Given the description of an element on the screen output the (x, y) to click on. 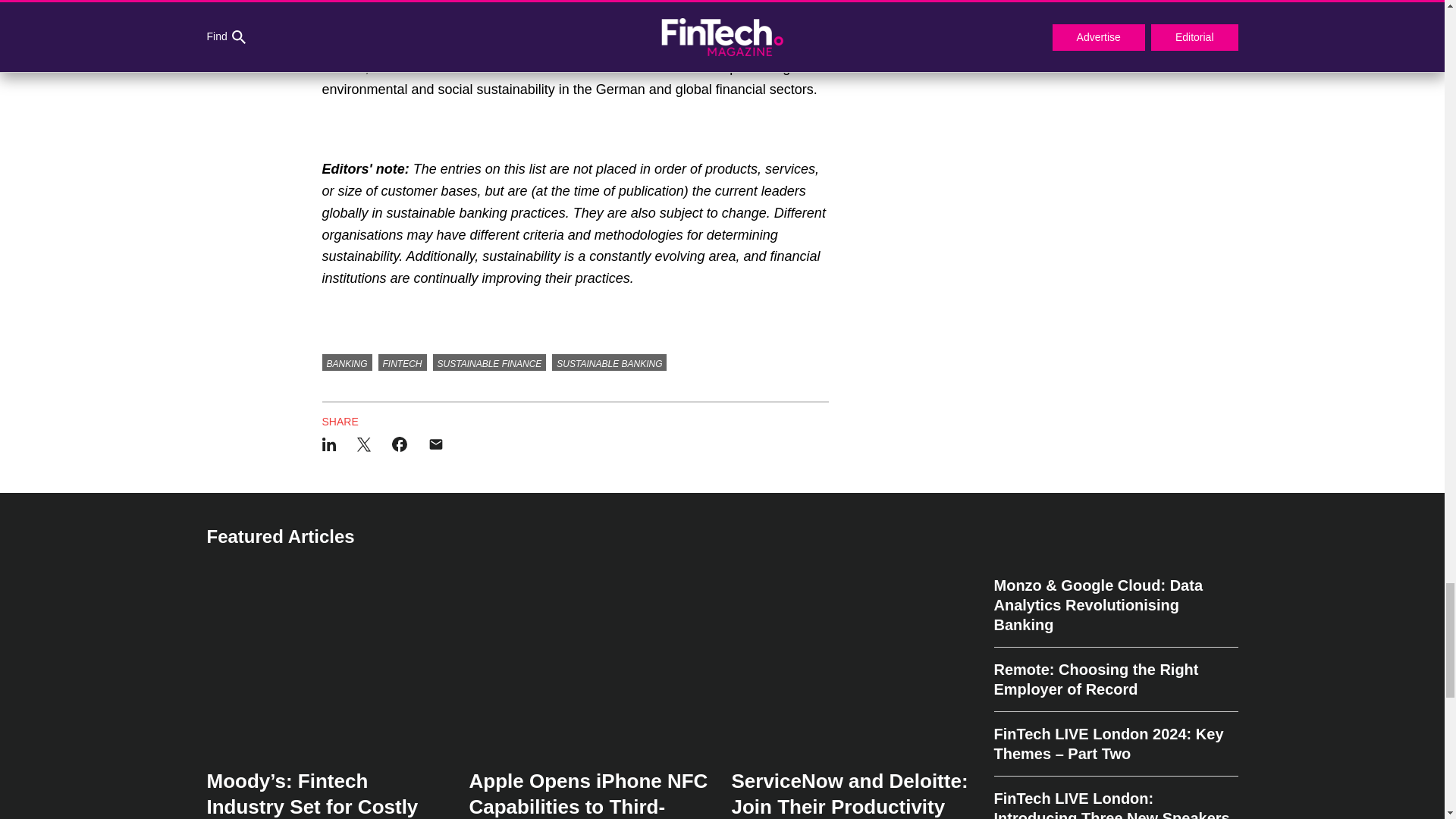
SUSTAINABLE BANKING (608, 362)
FINTECH (402, 362)
SUSTAINABLE FINANCE (489, 362)
BANKING (346, 362)
